Given the description of an element on the screen output the (x, y) to click on. 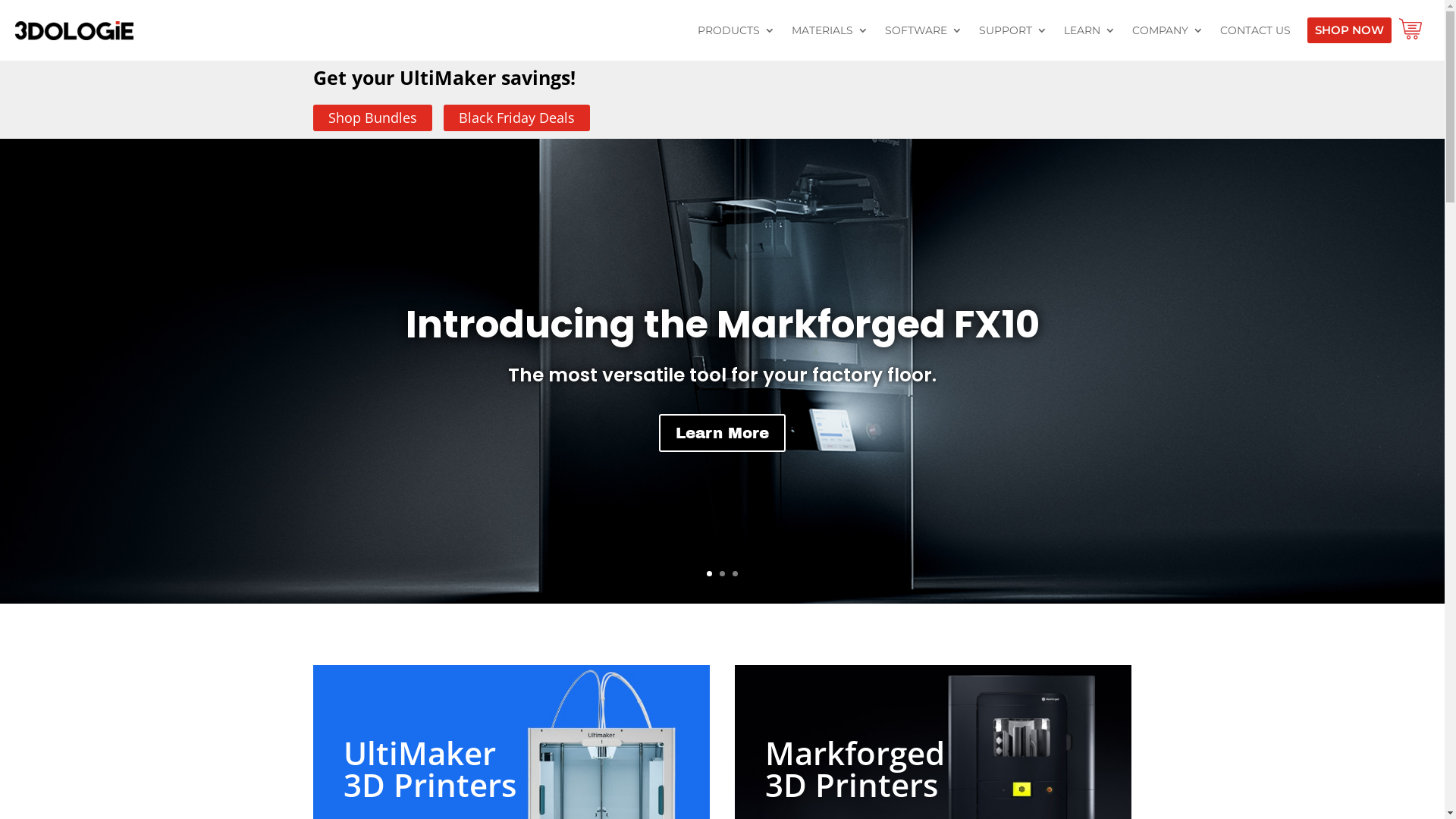
PRODUCTS Element type: text (736, 30)
Black Friday Deals Element type: text (515, 117)
CONTACT US Element type: text (1255, 30)
Learn More Element type: text (721, 432)
MATERIALS Element type: text (829, 30)
2 Element type: text (721, 573)
COMPANY Element type: text (1167, 30)
LEARN Element type: text (1089, 30)
SHOP NOW Element type: text (1349, 30)
Introducing the Markforged FX10 Element type: text (721, 324)
3 Element type: text (734, 573)
SOFTWARE Element type: text (923, 30)
Shop Bundles Element type: text (371, 117)
1 Element type: text (709, 573)
SUPPORT Element type: text (1013, 30)
